Given the description of an element on the screen output the (x, y) to click on. 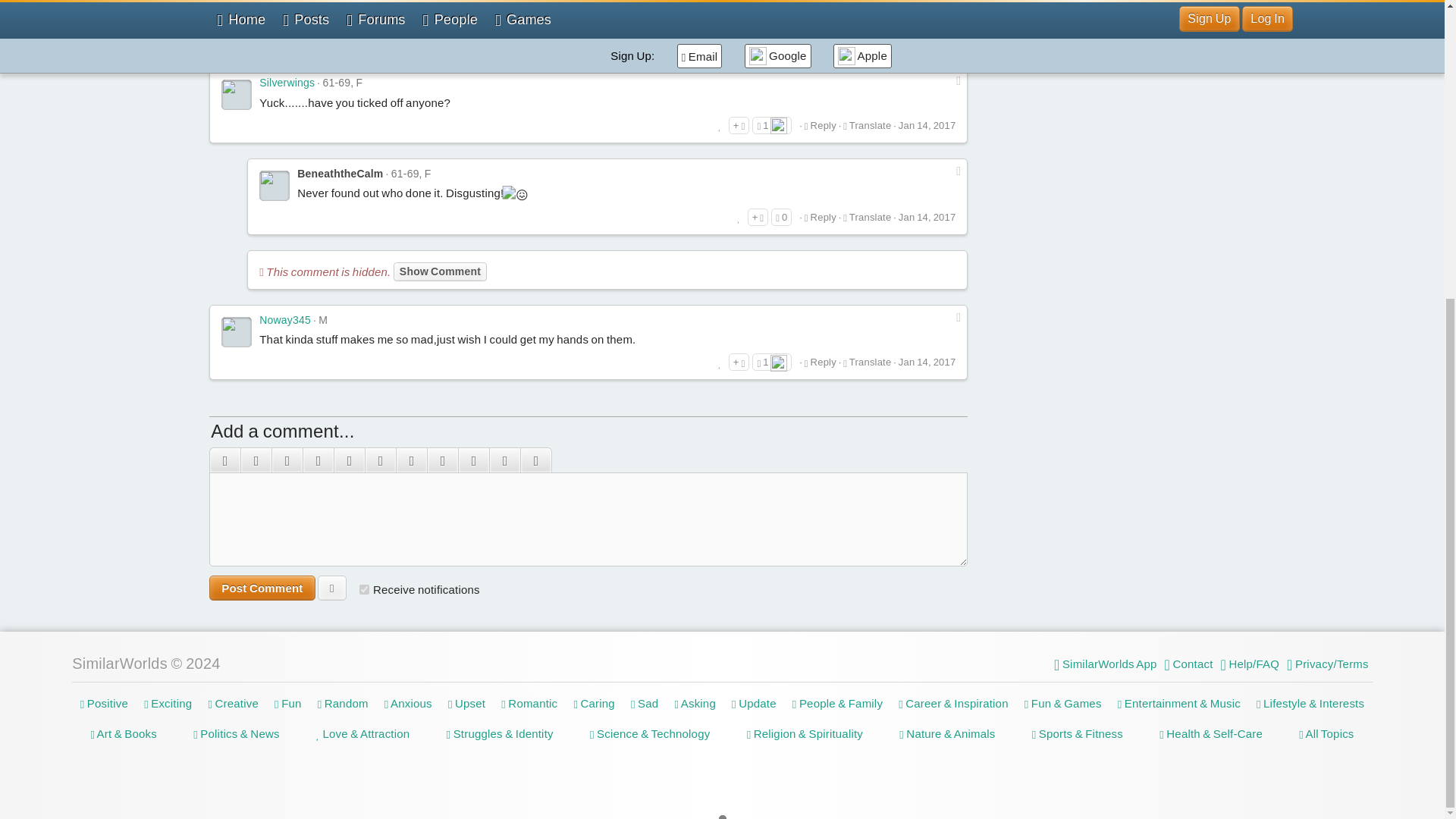
on (364, 589)
Silverwings (286, 82)
NEWEST FIRST (283, 53)
OLDEST FIRST (375, 53)
Reply (820, 125)
Silverwings (236, 94)
Heart (778, 125)
Translate (867, 125)
Jan 14, 2017 (927, 125)
1 (772, 125)
